Given the description of an element on the screen output the (x, y) to click on. 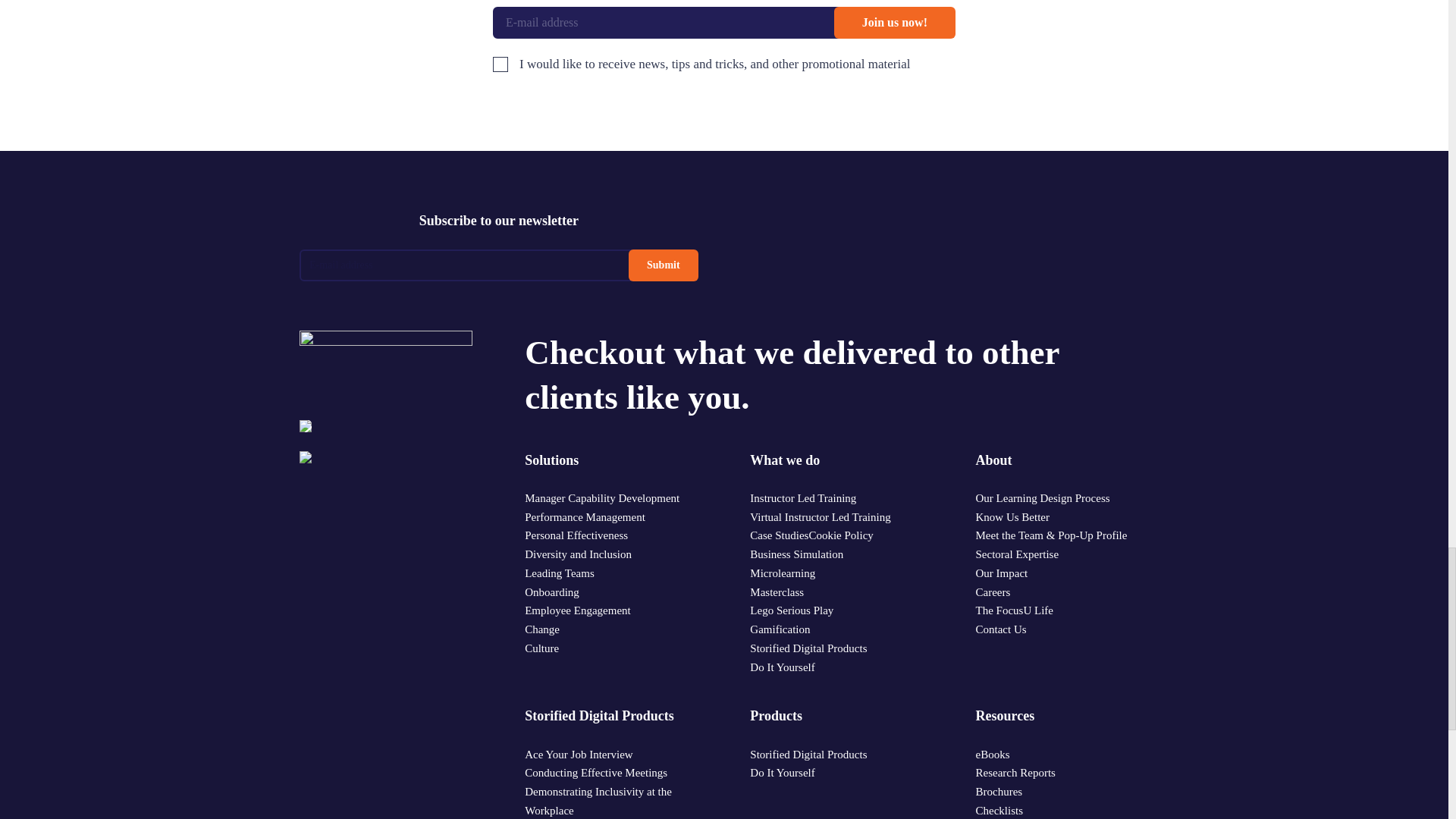
Submit (663, 265)
Join us now! (894, 22)
Personal Effectiveness (575, 535)
Manager Capability Development (601, 497)
Performance Management (584, 517)
